Given the description of an element on the screen output the (x, y) to click on. 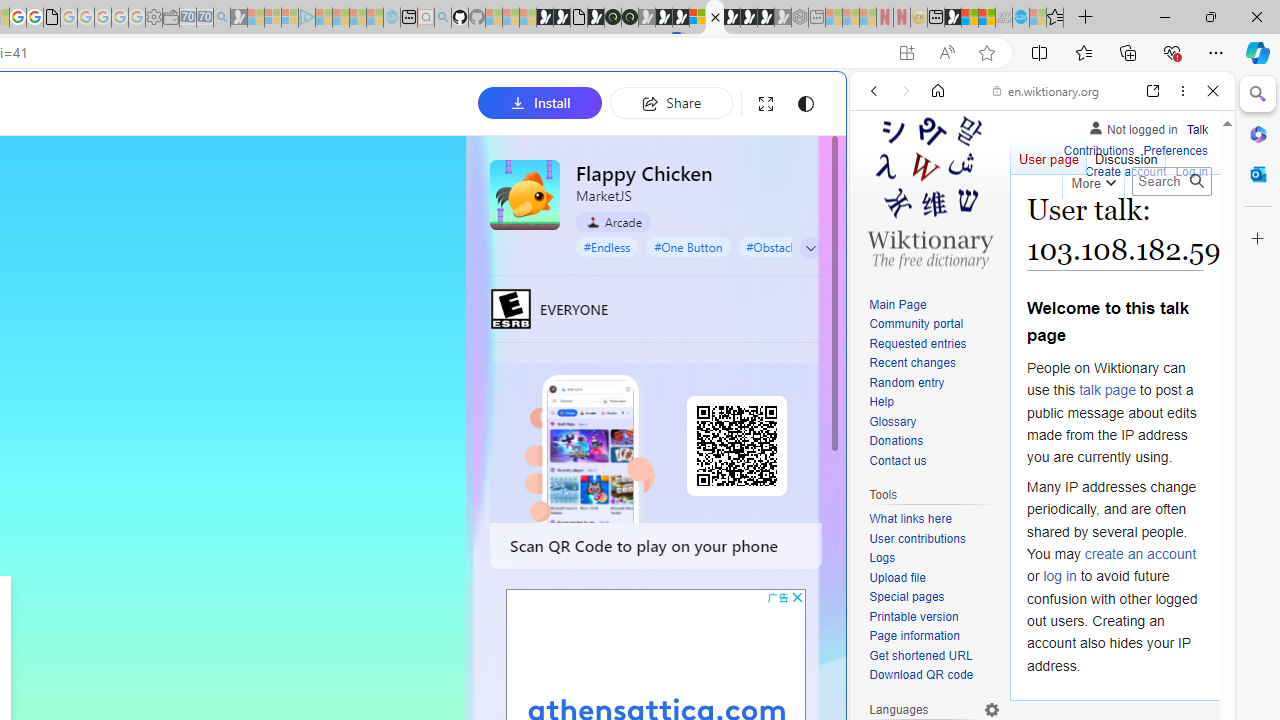
Services - Maintenance | Sky Blue Bikes - Sky Blue Bikes (1020, 17)
Preferences (1189, 228)
Recent changes (934, 363)
Page information (934, 637)
Earth has six continents not seven, radical new study claims (986, 17)
Navy Quest (1003, 17)
Change to dark mode (805, 103)
Talk (1197, 126)
Search Filter, WEB (882, 228)
Requested entries (917, 343)
Search or enter web address (343, 191)
Get shortened URL (934, 655)
